Given the description of an element on the screen output the (x, y) to click on. 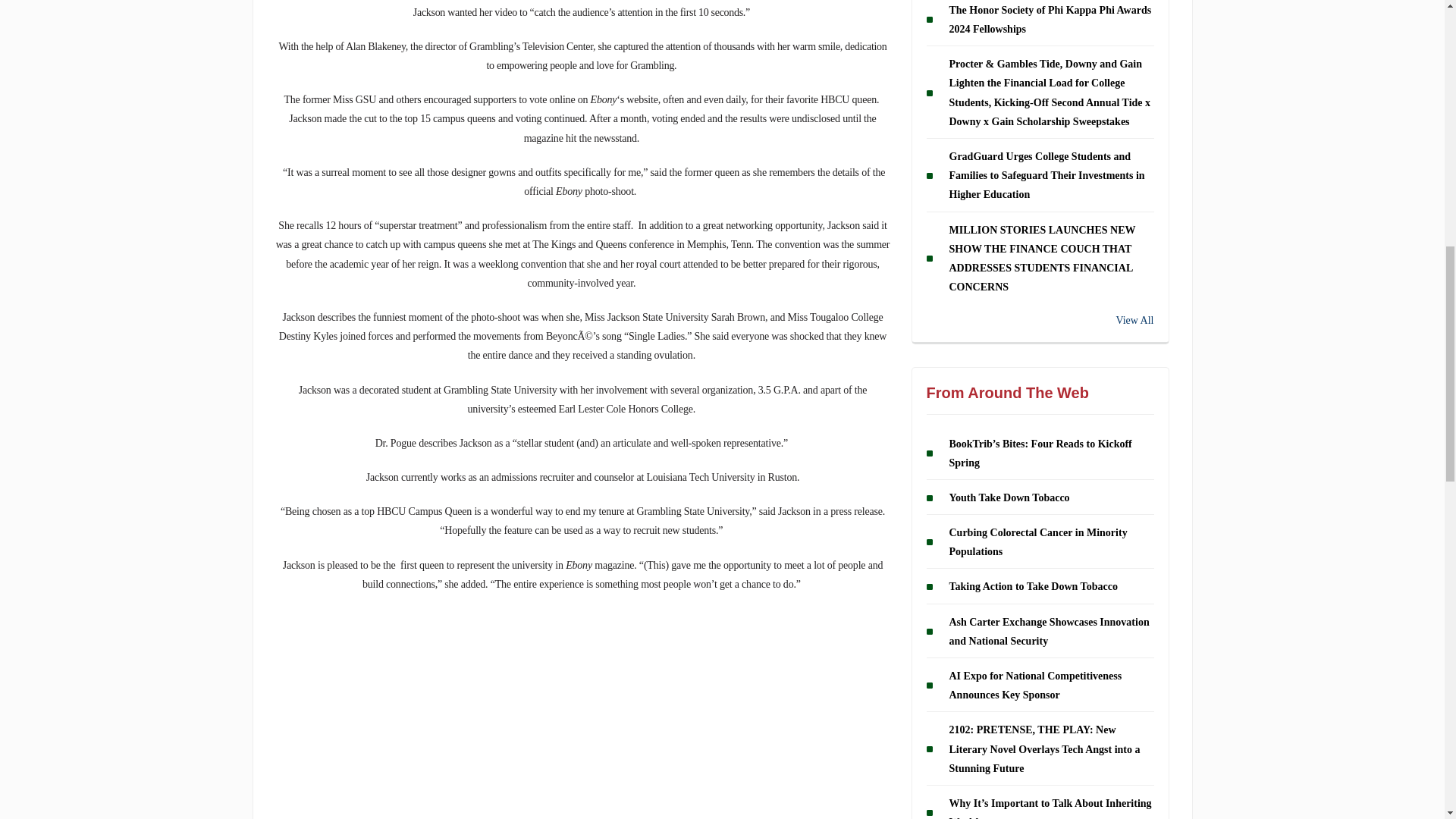
The Honor Society of Phi Kappa Phi Awards 2024 Fellowships (1050, 19)
Taking Action to Take Down Tobacco (1033, 586)
The Honor Society of Phi Kappa Phi Awards 2024 Fellowships (1050, 19)
Youth Take Down Tobacco (1009, 497)
View All (1040, 320)
Curbing Colorectal Cancer in Minority Populations (1037, 542)
AI Expo for National Competitiveness Announces Key Sponsor (1035, 685)
